Given the description of an element on the screen output the (x, y) to click on. 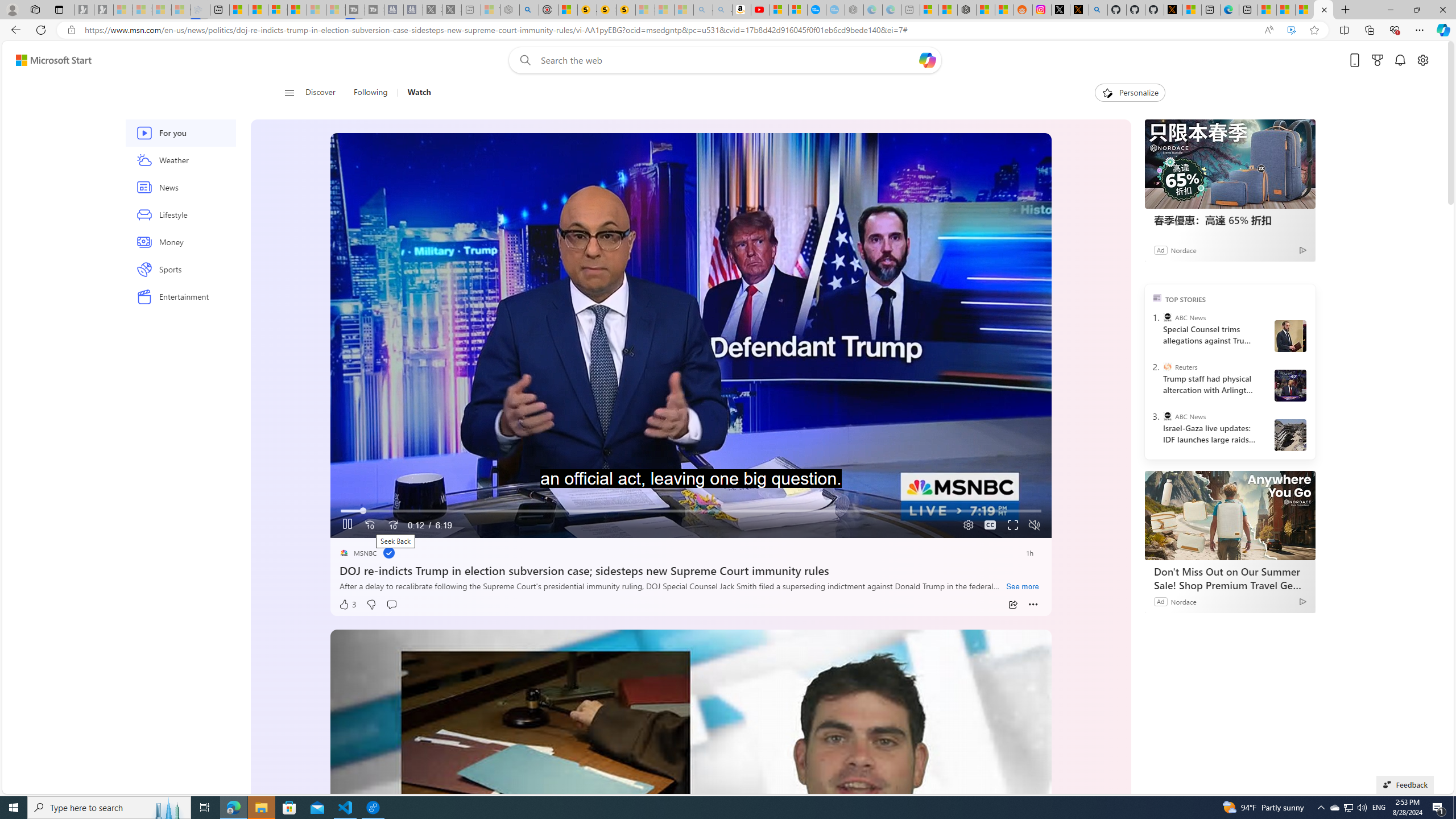
Ad Choice (1303, 249)
Amazon Echo Dot PNG - Search Images - Sleeping (721, 9)
3 Like (347, 604)
Newsletter Sign Up - Sleeping (102, 9)
Ad (1160, 249)
The most popular Google 'how to' searches - Sleeping (835, 9)
Open navigation menu (289, 92)
